Given the description of an element on the screen output the (x, y) to click on. 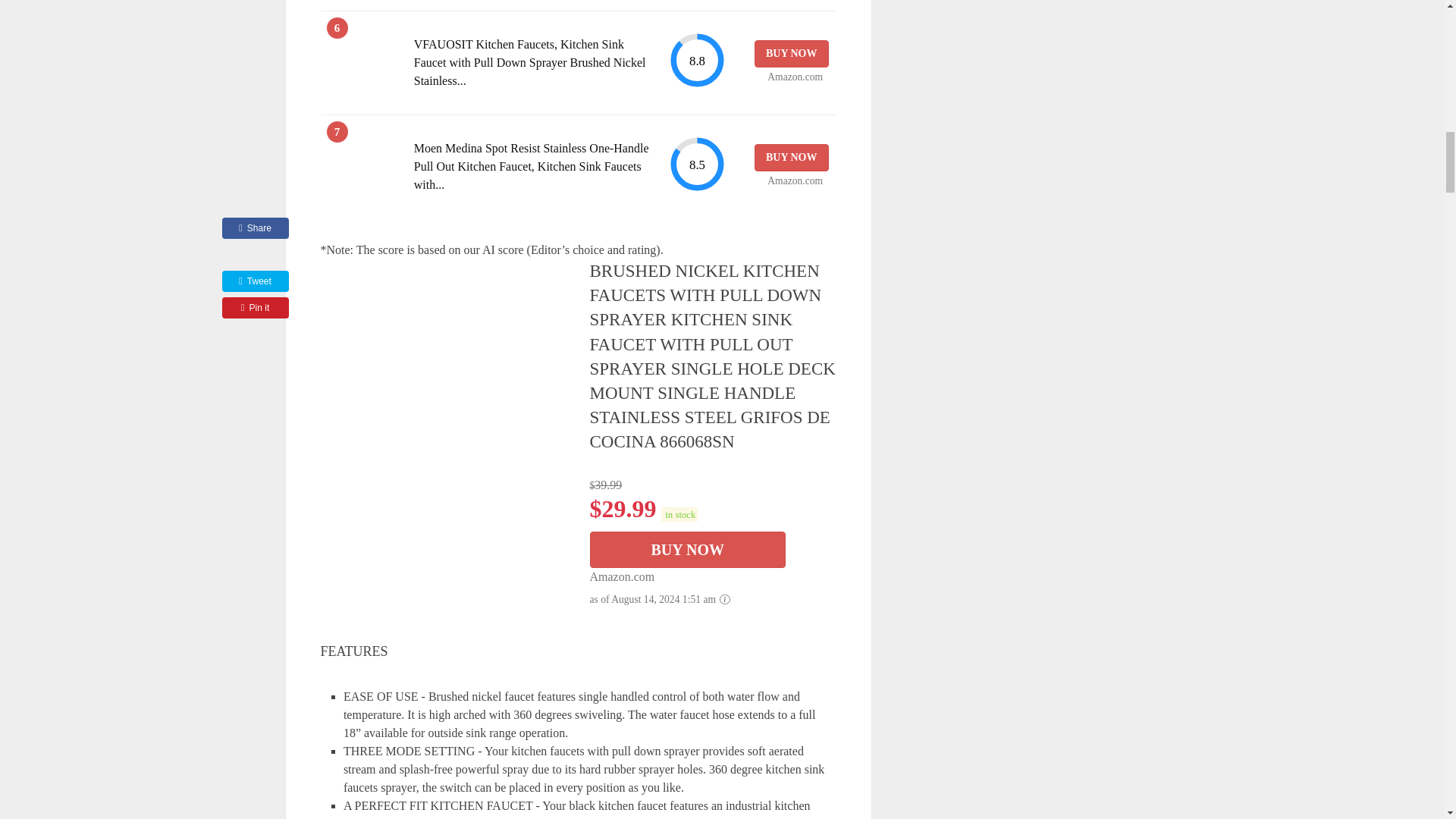
Last updated on August 14, 2024 1:51 am (679, 513)
8.8 (696, 59)
8.5 (696, 163)
